Given the description of an element on the screen output the (x, y) to click on. 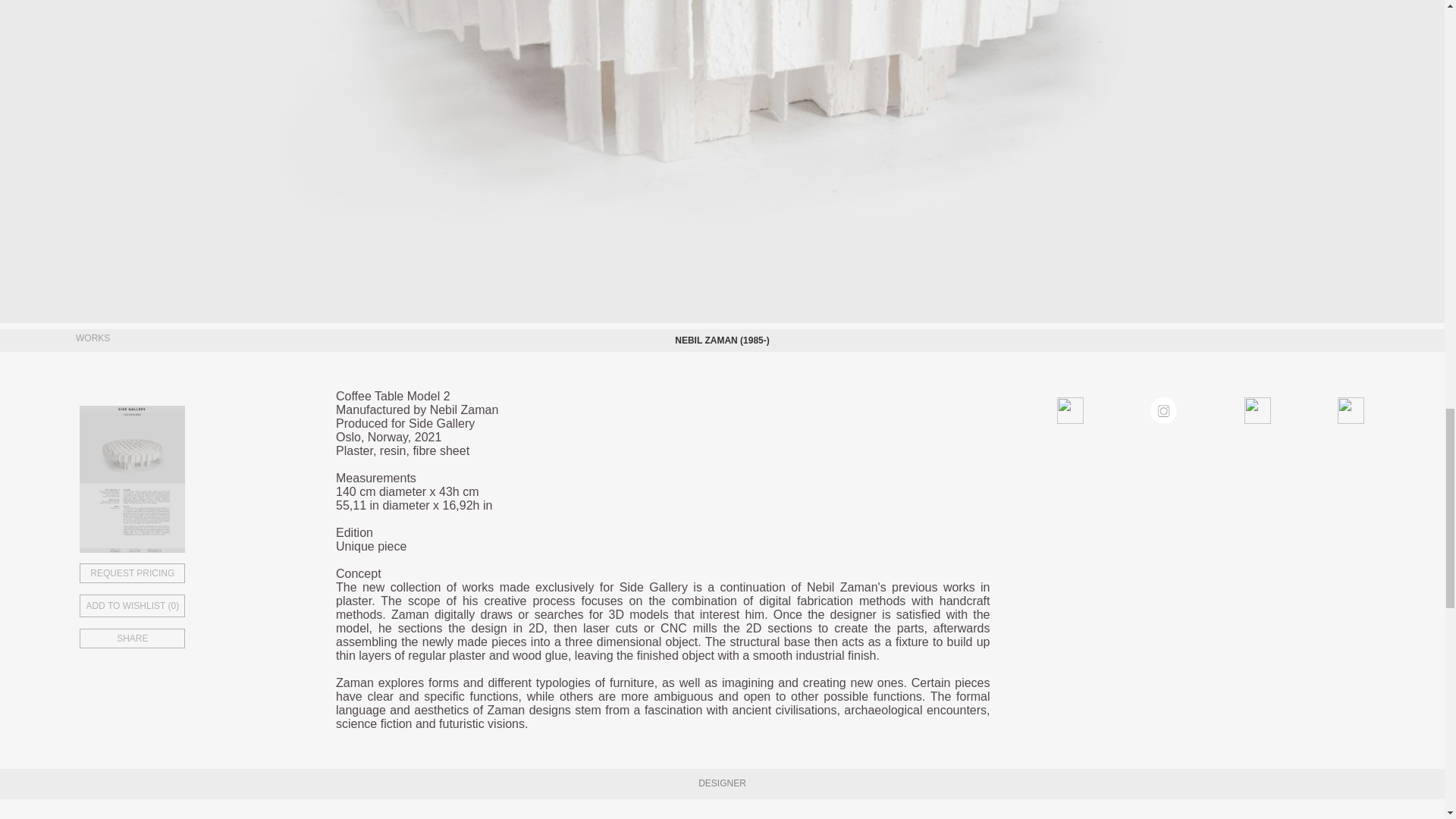
SHARE (187, 638)
Bookmark This (187, 601)
REQUEST PRICING (187, 573)
WORKS (89, 340)
Share on Facebook. (1104, 408)
